Given the description of an element on the screen output the (x, y) to click on. 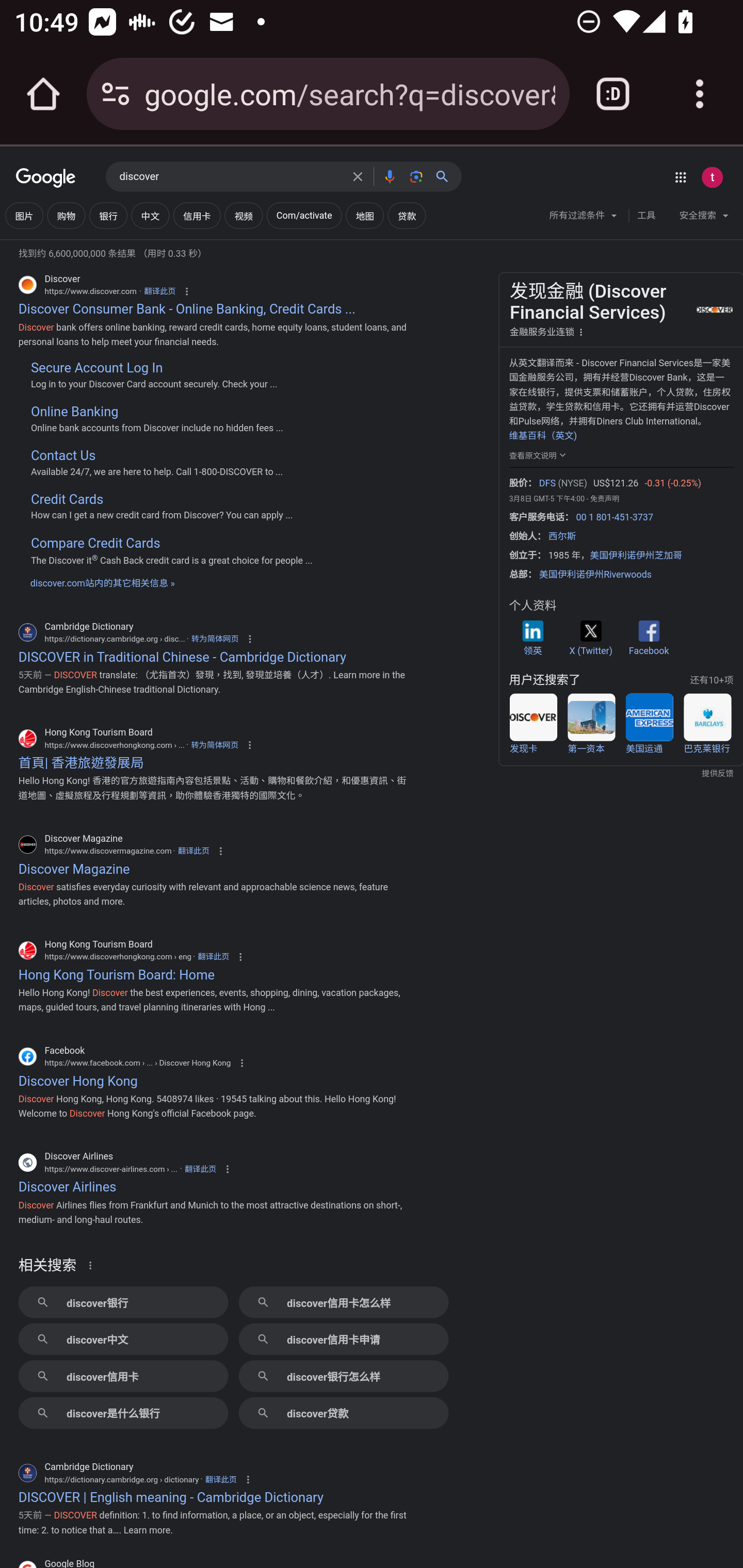
Open the home page (43, 93)
Connection is secure (115, 93)
Switch or close tabs (612, 93)
Customize and control Google Chrome (699, 93)
清除 (357, 176)
按语音搜索 (389, 176)
按图搜索 (415, 176)
搜索 (446, 176)
Google 应用 (680, 176)
Google 账号： test appium (testappium002@gmail.com) (712, 176)
Google (45, 178)
discover (229, 177)
图片 (24, 215)
购物 (65, 215)
添加“银行” 银行 (107, 215)
添加“中文” 中文 (149, 215)
添加“信用卡” 信用卡 (196, 215)
视频 (243, 215)
添加“Com/activate” Com/activate (303, 215)
地图 (364, 215)
添加“贷款” 贷款 (406, 215)
所有过滤条件 (583, 217)
工具 (646, 215)
安全搜索 (703, 217)
翻译此页 (159, 291)
“发现金融 (Discover Financial Services)”的缩略图图片 (713, 309)
更多选项 (580, 331)
Secure Account Log In (95, 368)
Online Banking (73, 412)
维基百科（英文) (542, 435)
Contact Us (62, 456)
查看原文说明 (538, 454)
DFS (546, 483)
Credit Cards (66, 499)
免责声明 (604, 498)
拨打电话 00 1 801-451-3737 (614, 516)
西尔斯 (562, 534)
Compare Credit Cards (94, 542)
美国伊利诺伊州芝加哥 (635, 555)
美国伊利诺伊州Riverwoods (595, 574)
discover.com站内的其它相关信息 » (102, 583)
领英 (532, 637)
X (Twitter) (590, 637)
Facebook (648, 637)
转为简体网页 (214, 638)
用户还搜索了 (544, 679)
还有10+项 (711, 680)
发现卡 (532, 724)
第一资本 (590, 724)
美国运通 (648, 724)
巴克莱银行 (706, 724)
转为简体网页 (214, 744)
提供反馈 (620, 773)
翻译此页 (192, 849)
翻译此页 (213, 956)
翻译此页 (200, 1169)
关于这条结果的详细信息 (93, 1264)
discover银行 (122, 1301)
discover信用卡怎么样 (343, 1301)
discover中文 (122, 1338)
discover信用卡申请 (343, 1338)
discover信用卡 (122, 1375)
discover银行怎么样 (343, 1375)
discover是什么银行 (122, 1413)
discover贷款 (343, 1413)
翻译此页 (220, 1479)
